Given the description of an element on the screen output the (x, y) to click on. 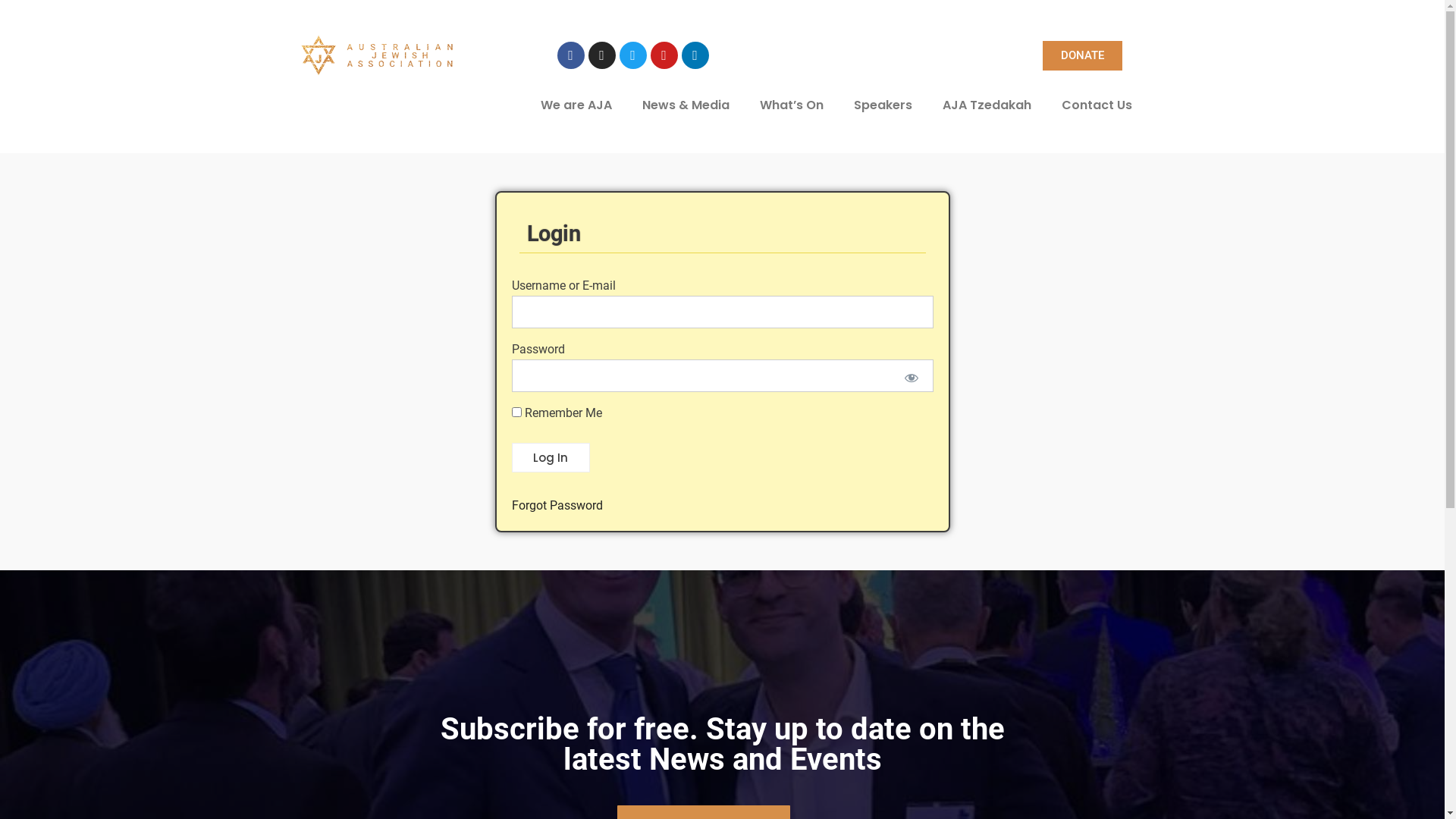
Contact Us Element type: text (1096, 104)
DONATE Element type: text (1082, 55)
Speakers Element type: text (882, 104)
We are AJA Element type: text (575, 104)
AJA Tzedakah Element type: text (985, 104)
Forgot Password Element type: text (556, 505)
News & Media Element type: text (684, 104)
Log In Element type: text (550, 457)
